Given the description of an element on the screen output the (x, y) to click on. 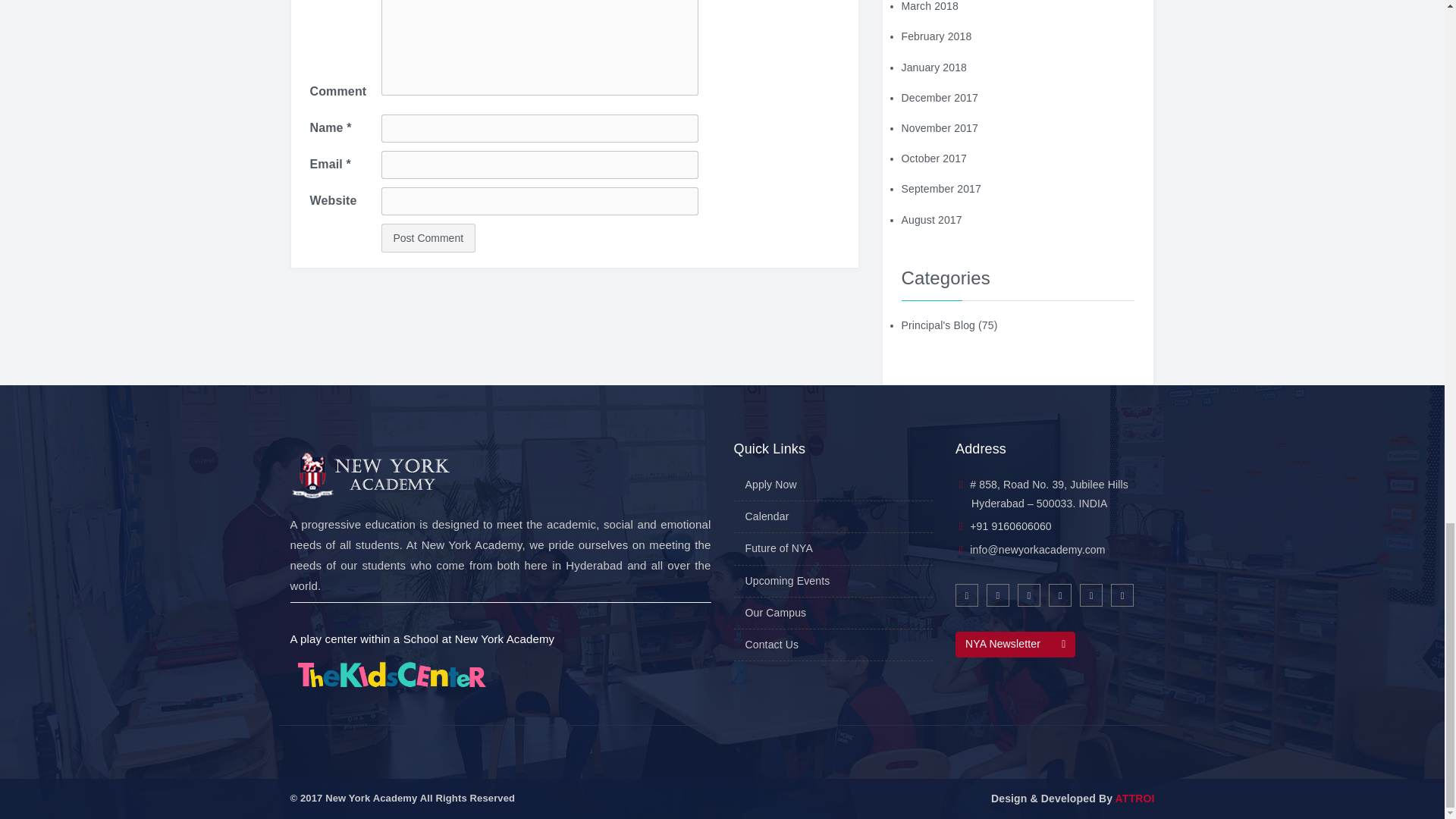
Post Comment (428, 237)
